Given the description of an element on the screen output the (x, y) to click on. 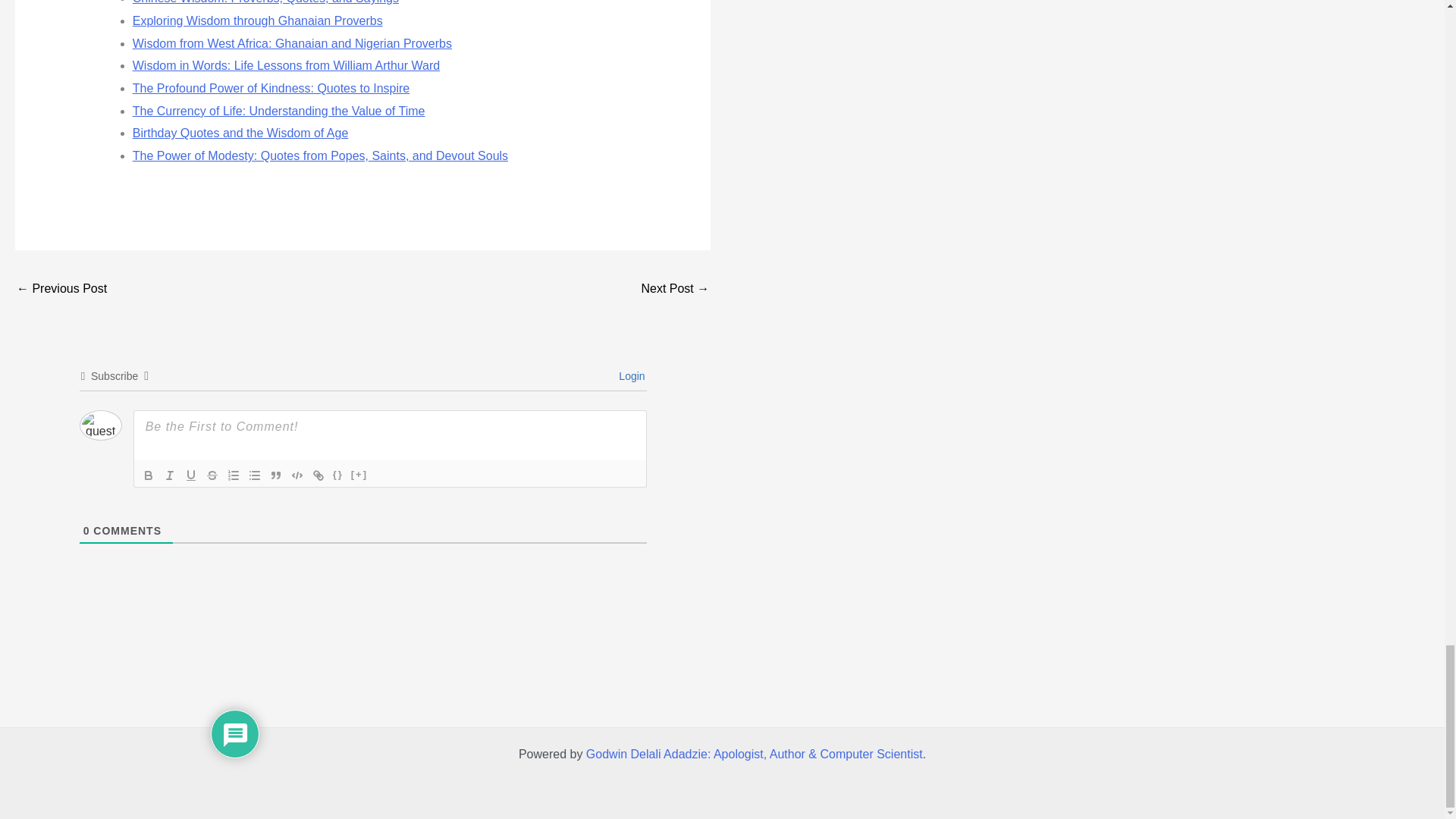
Wisdom from West Africa: Ghanaian and Nigerian Proverbs (291, 42)
The Currency of Life: Understanding the Value of Time (278, 110)
Strike (212, 475)
Unordered List (254, 475)
Ordered List (233, 475)
Link (318, 475)
Code Block (296, 475)
Wisdom in Words: Life Lessons from William Arthur Ward (285, 65)
Exploring Wisdom from Nzema Proverbs (61, 289)
Login (629, 376)
The Profound Power of Kindness: Quotes to Inspire (271, 88)
Exploring Wisdom through Ghanaian Proverbs (257, 20)
Blockquote (275, 475)
Birthday Quotes and the Wisdom of Age (240, 132)
